Given the description of an element on the screen output the (x, y) to click on. 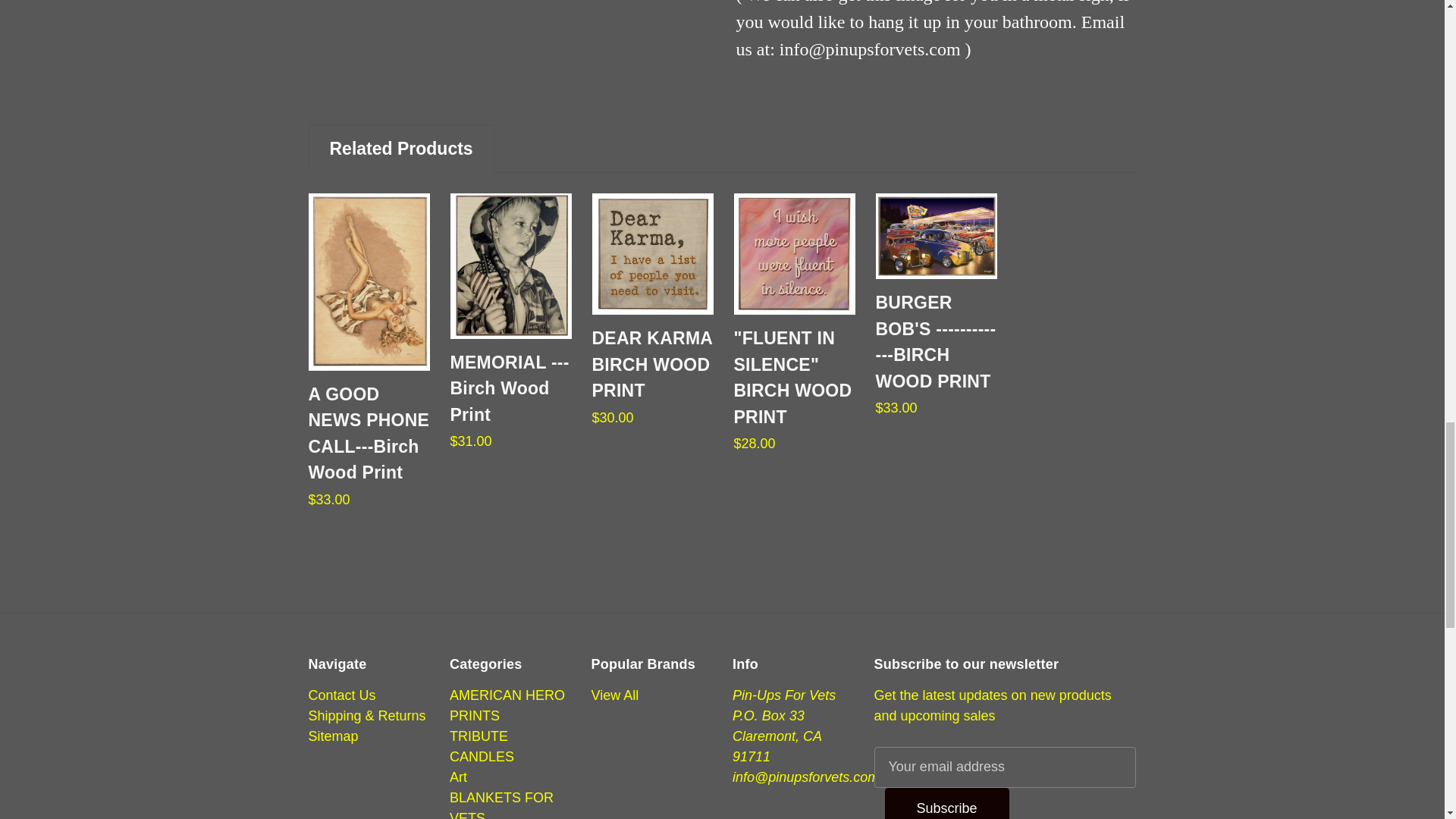
BURGER   BOB'S  -------------BIRCH  WOOD  PRINT (935, 236)
DEAR  KARMA  BIRCH WOOD PRINT (652, 253)
"FLUENT IN SILENCE"  BIRCH  WOOD  PRINT (794, 253)
Subscribe (946, 803)
